Given the description of an element on the screen output the (x, y) to click on. 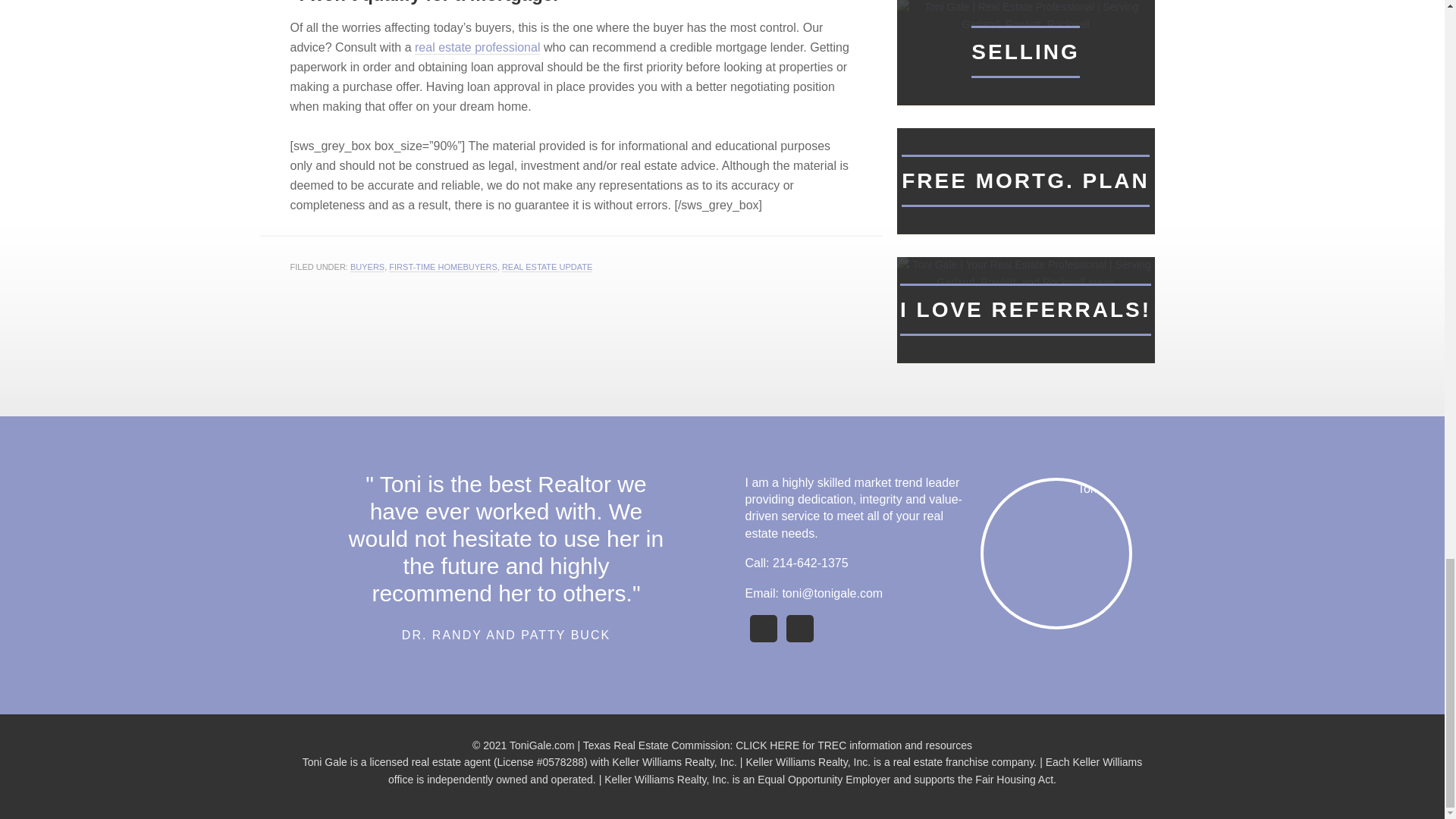
REAL ESTATE UPDATE (547, 266)
BUYERS (367, 266)
real estate professional (477, 47)
FIRST-TIME HOMEBUYERS (442, 266)
Do I Really Need A Real Estate Agent? (477, 47)
